Given the description of an element on the screen output the (x, y) to click on. 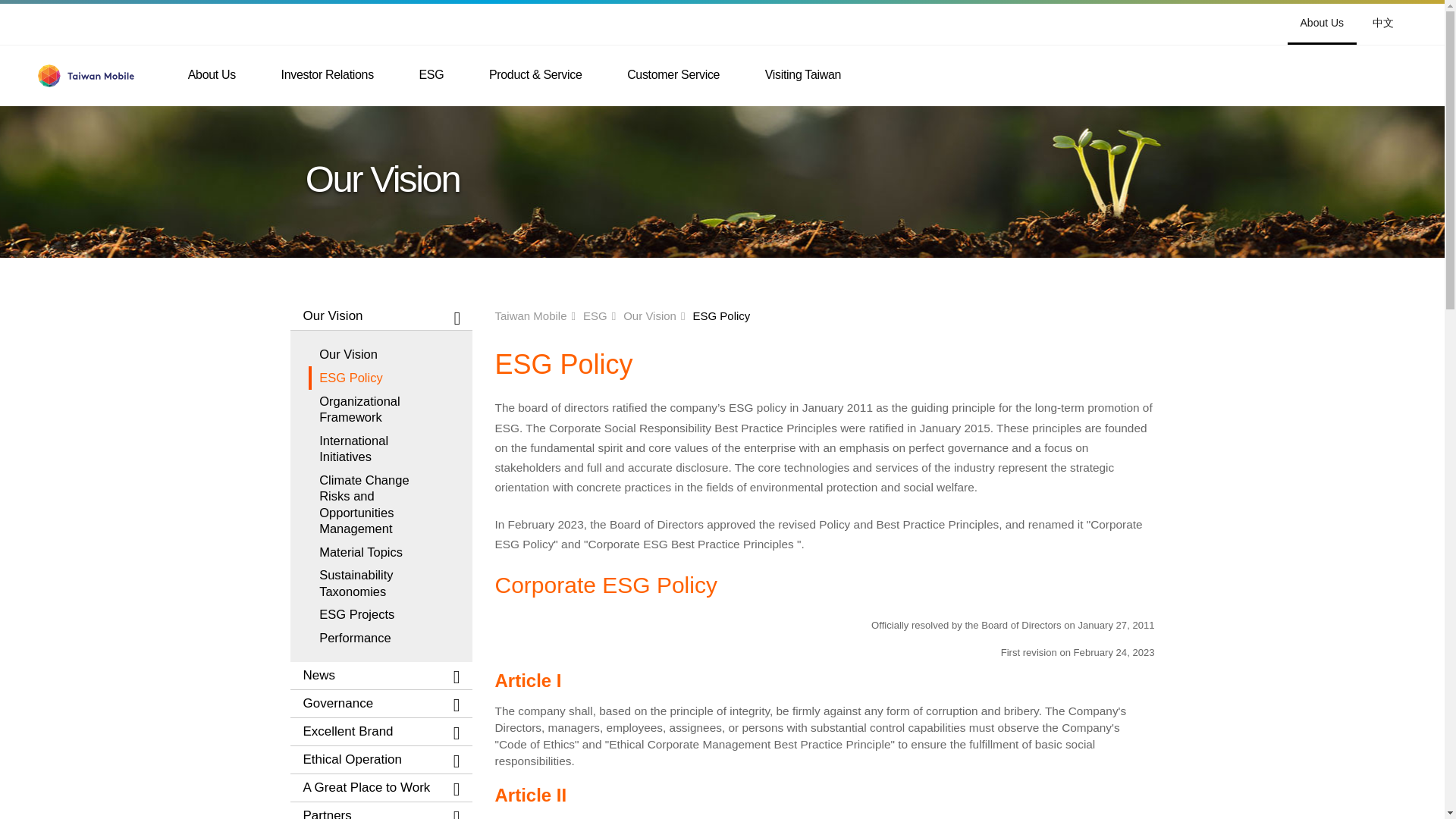
ESG (431, 74)
Investor Relations (327, 74)
About Us (211, 74)
About Us (1321, 22)
